Given the description of an element on the screen output the (x, y) to click on. 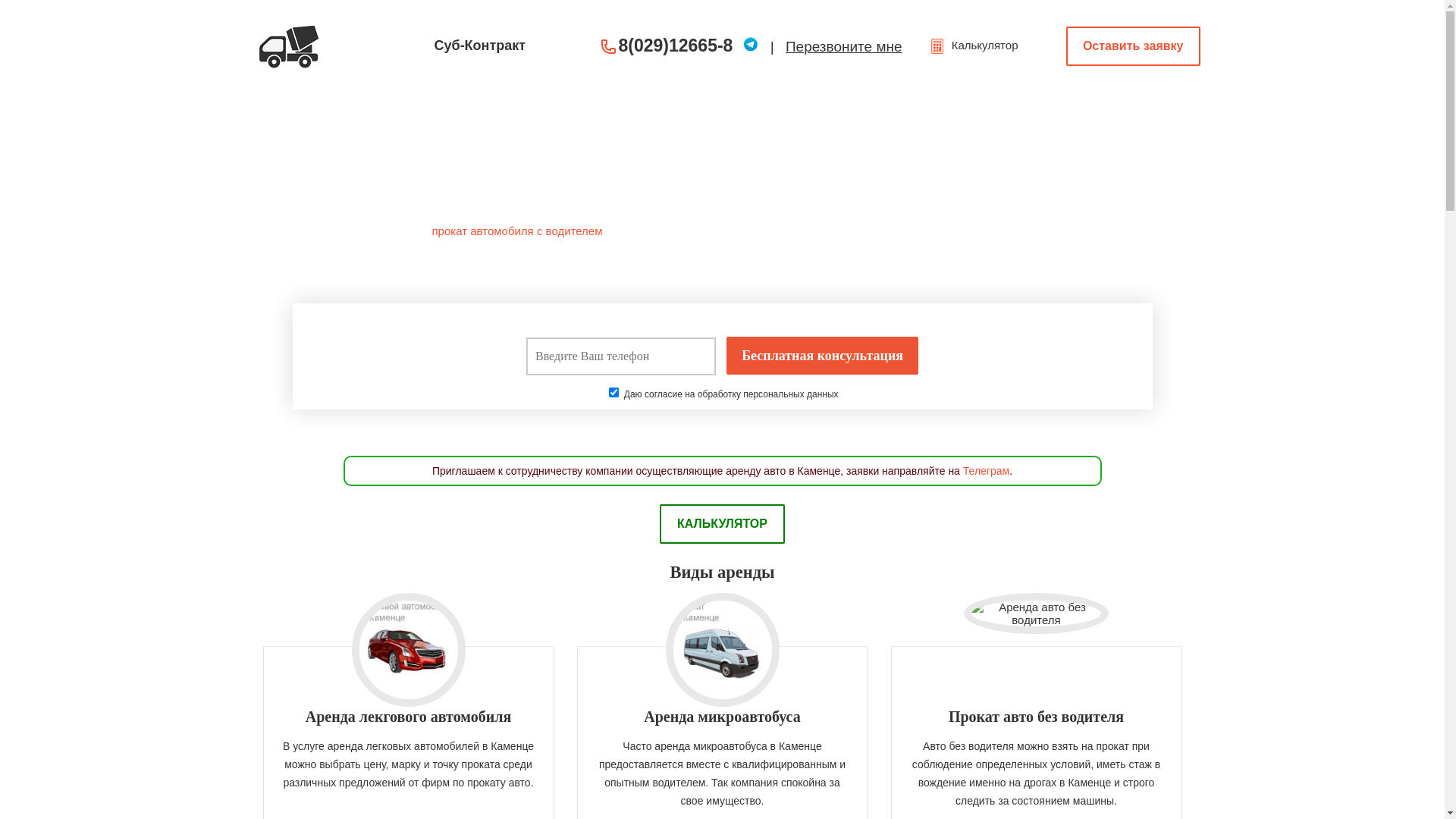
8(029)12665-8 Element type: text (675, 45)
